Given the description of an element on the screen output the (x, y) to click on. 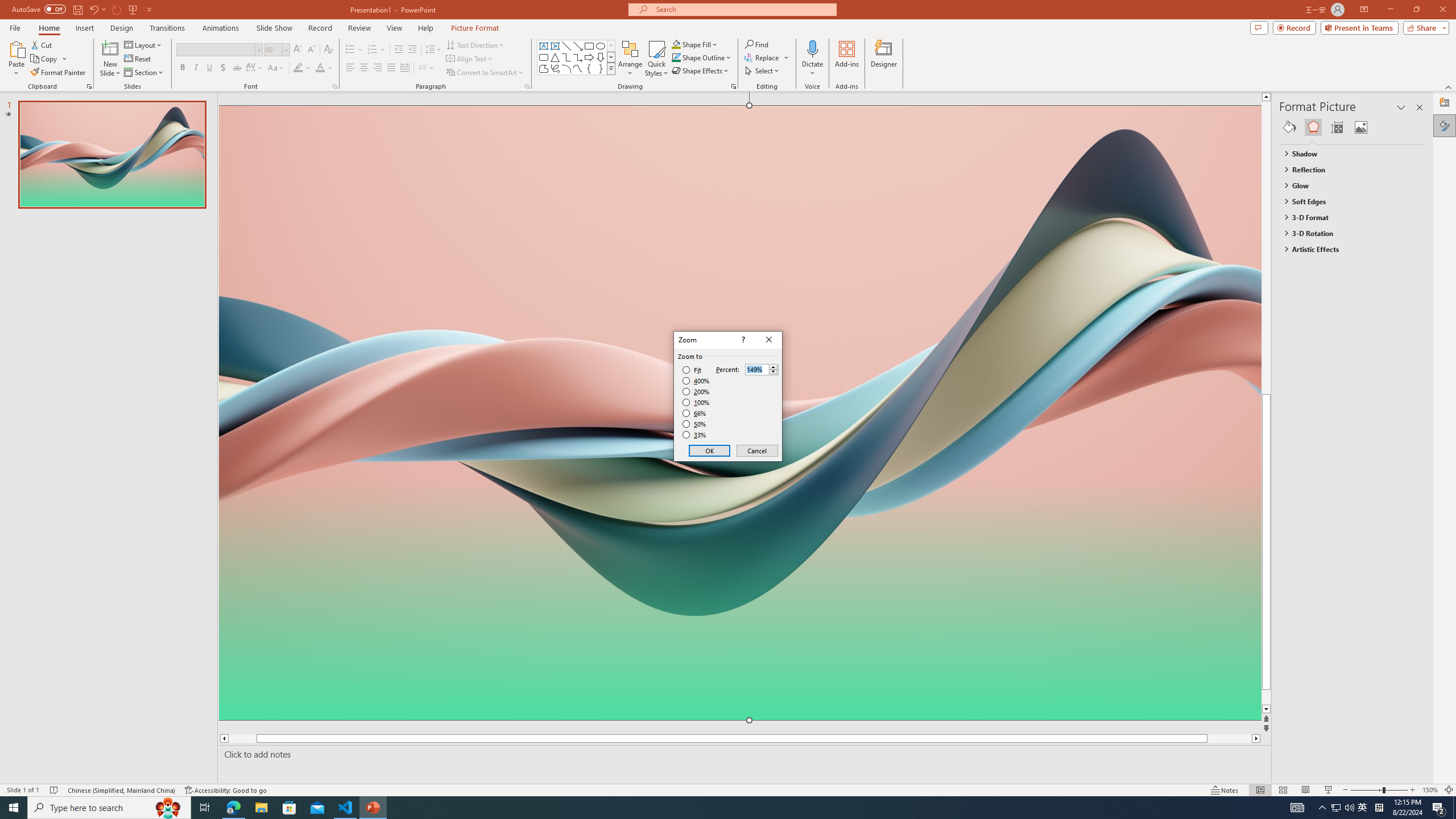
66% (694, 412)
100% (696, 402)
